Given the description of an element on the screen output the (x, y) to click on. 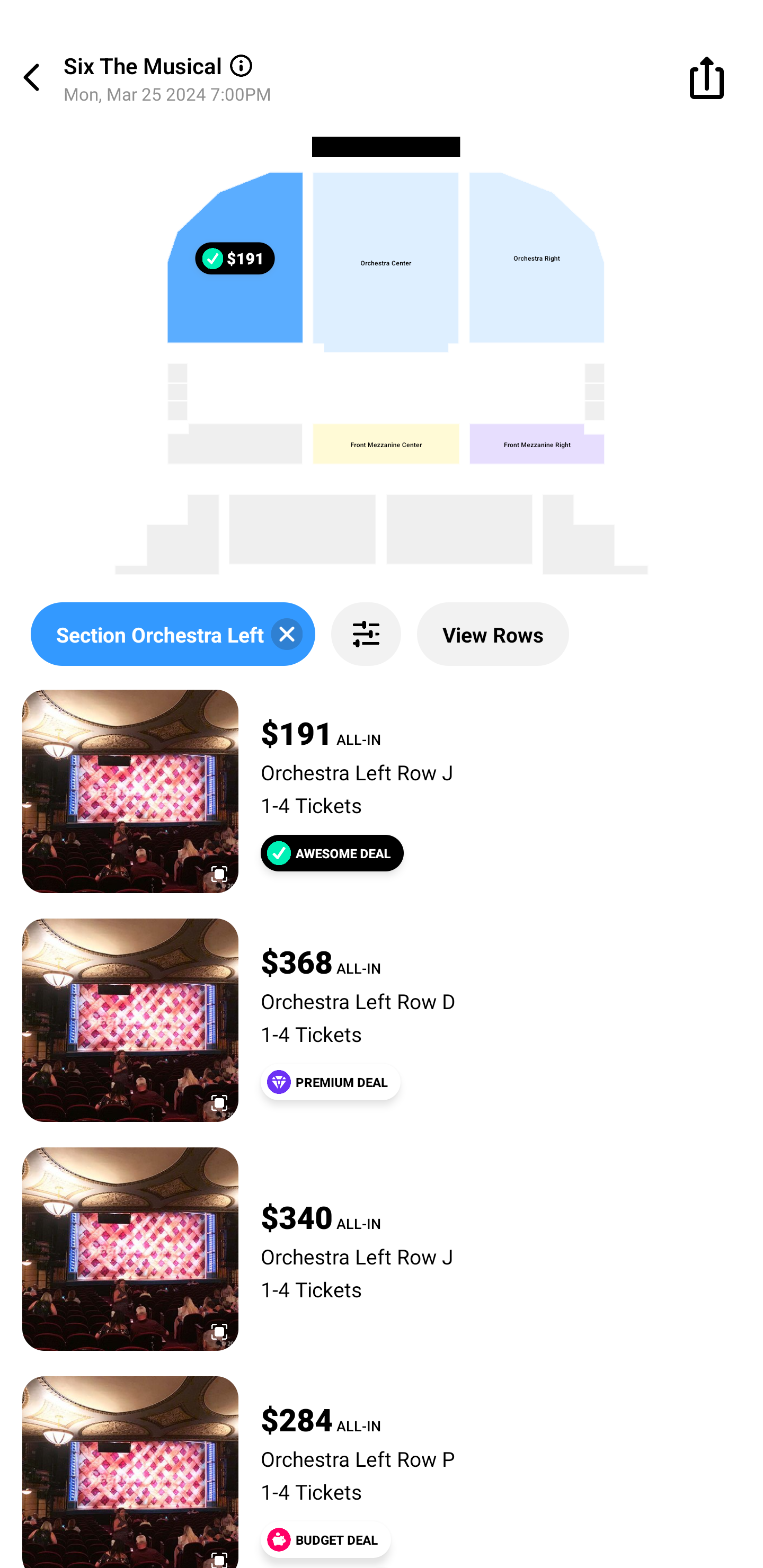
$191 (240, 260)
Section Orchestra Left (172, 634)
View Rows (493, 634)
AWESOME DEAL (331, 852)
PREMIUM DEAL (330, 1081)
BUDGET DEAL (325, 1539)
